Given the description of an element on the screen output the (x, y) to click on. 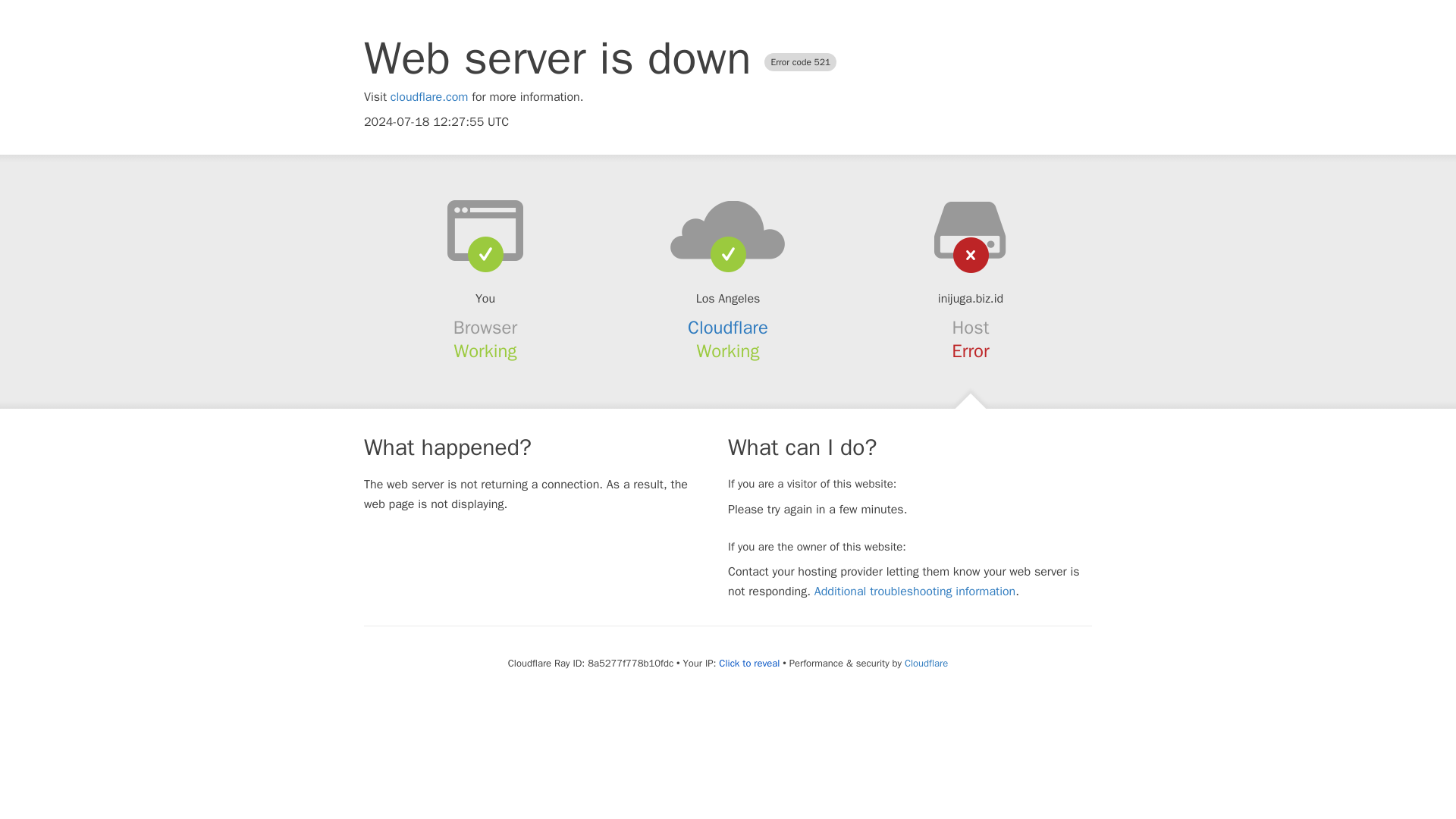
Cloudflare (727, 327)
Click to reveal (748, 663)
Cloudflare (925, 662)
Additional troubleshooting information (913, 590)
cloudflare.com (429, 96)
